Given the description of an element on the screen output the (x, y) to click on. 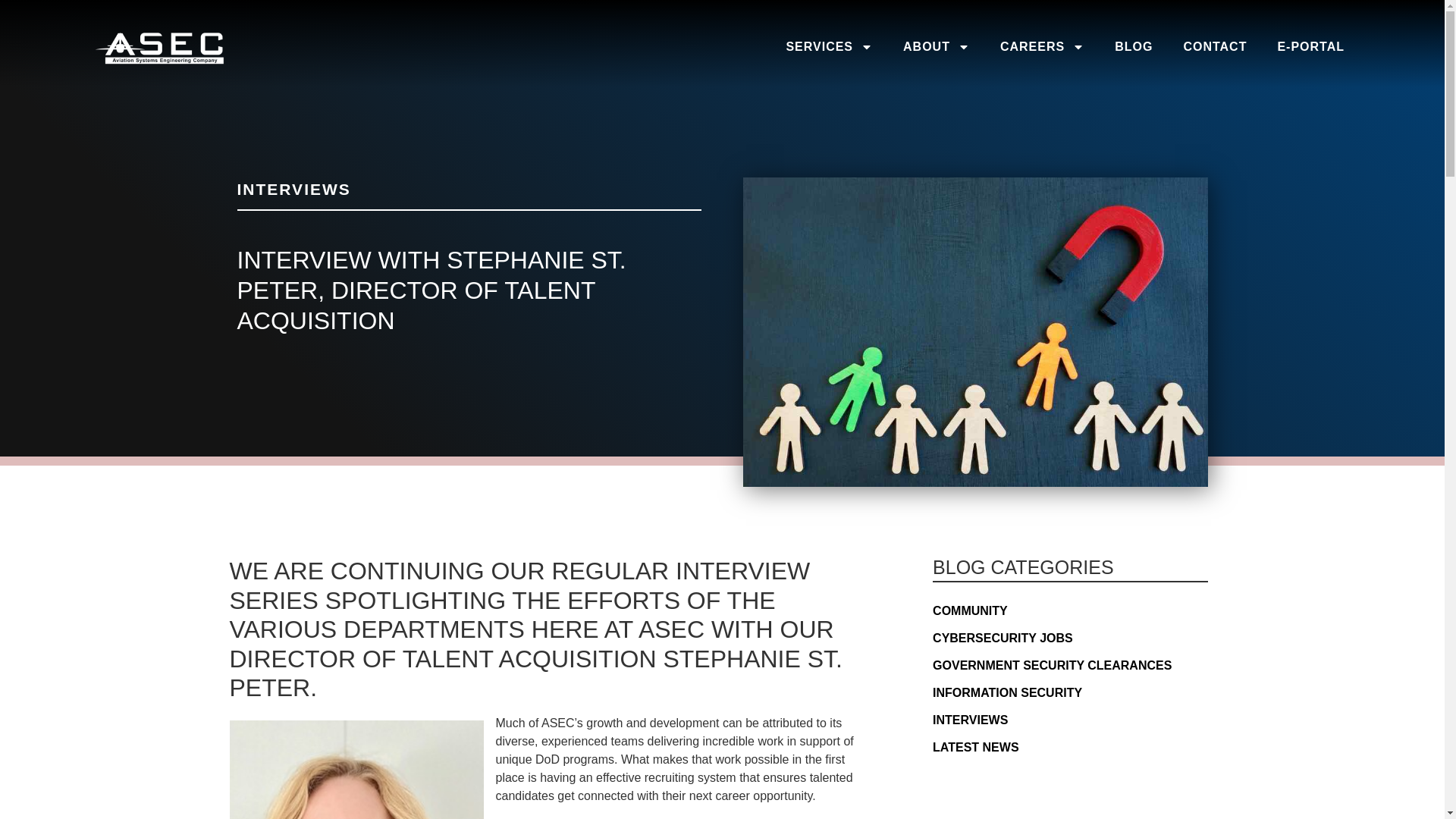
E-PORTAL (1310, 46)
SERVICES (829, 46)
ABOUT (936, 46)
CAREERS (1042, 46)
CONTACT (1214, 46)
BLOG (1133, 46)
